Given the description of an element on the screen output the (x, y) to click on. 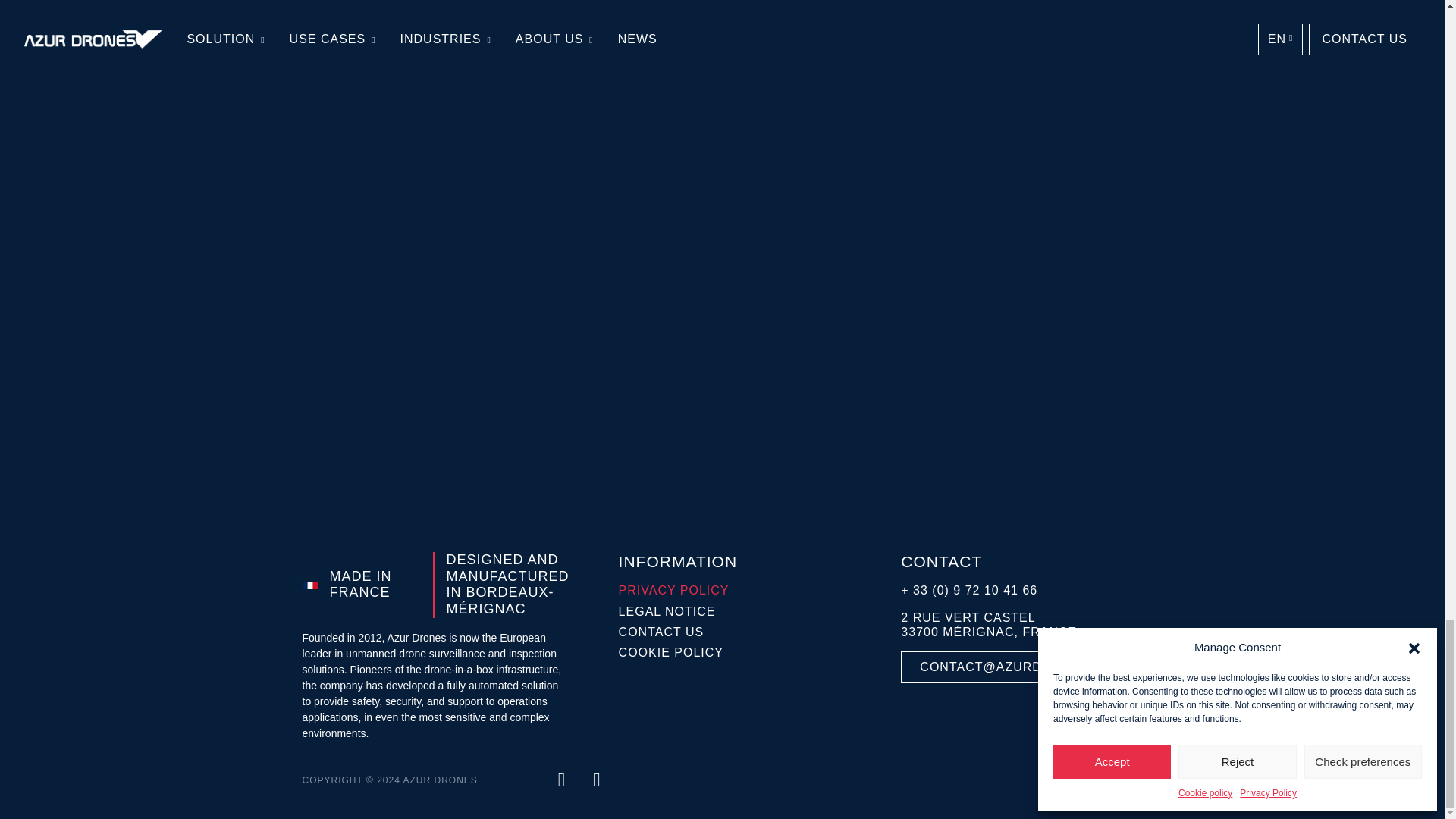
LEGAL NOTICE (677, 614)
Legal notice (677, 611)
CONTACT US (677, 634)
Contact us (677, 631)
PRIVACY POLICY (677, 593)
CONTACT (1021, 561)
Privacy Policy (677, 590)
COOKIE POLICY (677, 655)
Cookie policy (677, 652)
INFORMATION (677, 561)
